Given the description of an element on the screen output the (x, y) to click on. 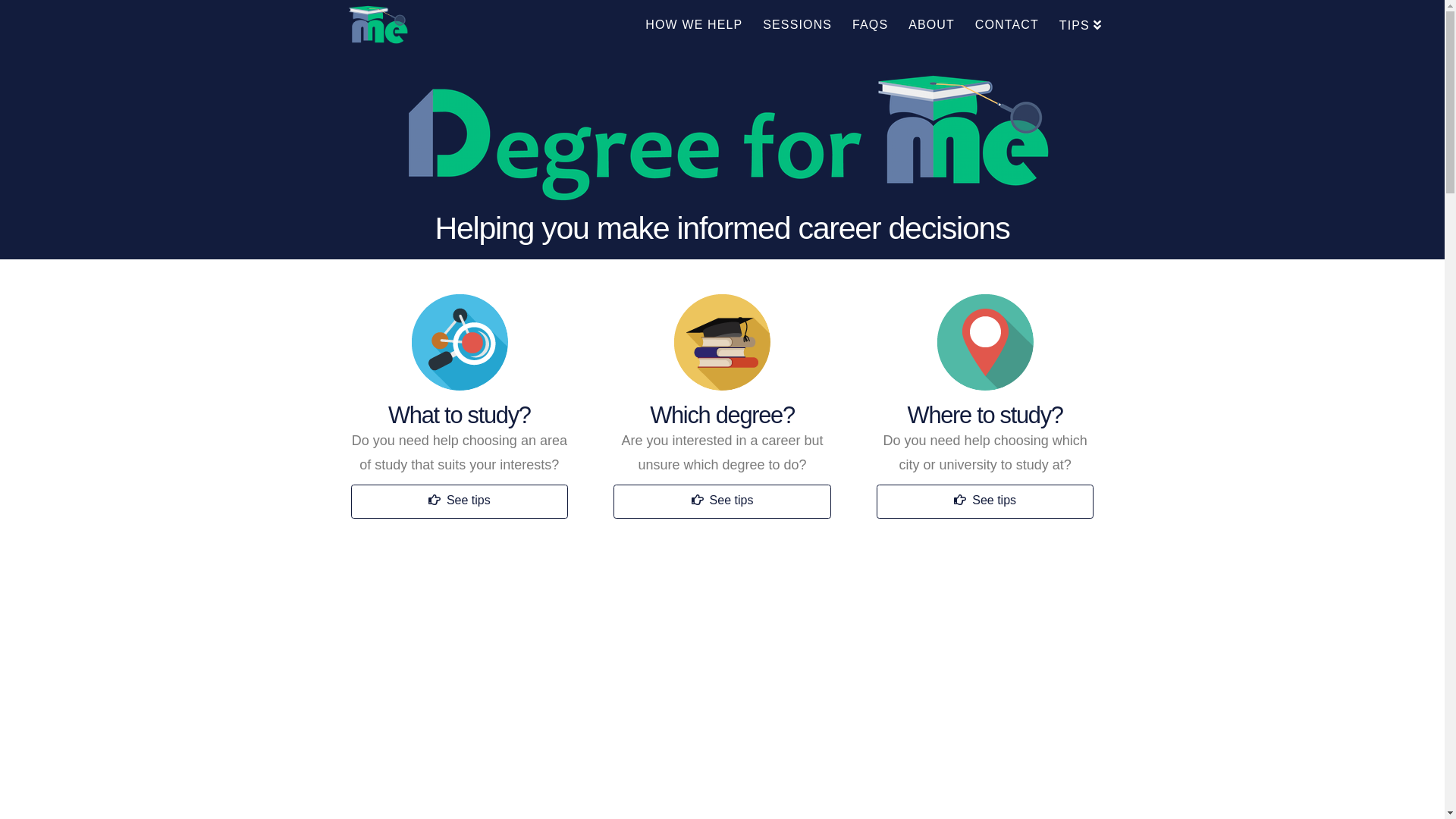
TIPS Element type: text (1074, 30)
FAQS Element type: text (869, 30)
HOW WE HELP Element type: text (693, 30)
Tips on choosing a degree Element type: hover (722, 341)
CONTACT Element type: text (1006, 30)
See tips Element type: text (458, 501)
Tips on choosing what to study Element type: hover (458, 341)
See tips Element type: text (985, 501)
SESSIONS Element type: text (796, 30)
What to study? Element type: text (459, 414)
See tips Element type: text (722, 501)
Which degree? Element type: text (721, 414)
Factors to consider when choosing a university Element type: hover (985, 341)
Where to study? Element type: text (985, 414)
ABOUT Element type: text (930, 30)
